Given the description of an element on the screen output the (x, y) to click on. 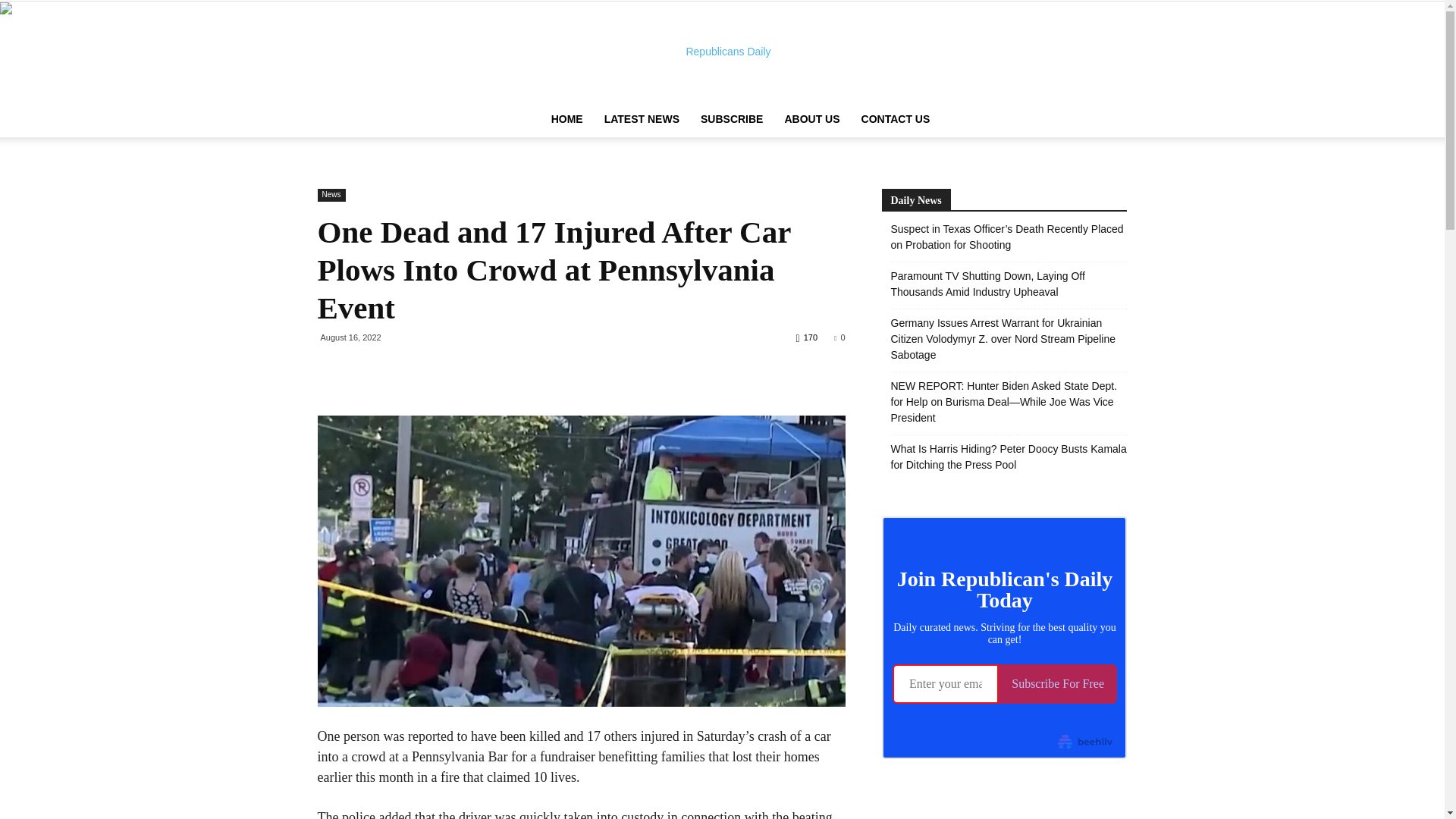
0 (839, 337)
ABOUT US (811, 118)
News (331, 195)
HOME (567, 118)
CONTACT US (895, 118)
SUBSCRIBE (731, 118)
LATEST NEWS (642, 118)
